Given the description of an element on the screen output the (x, y) to click on. 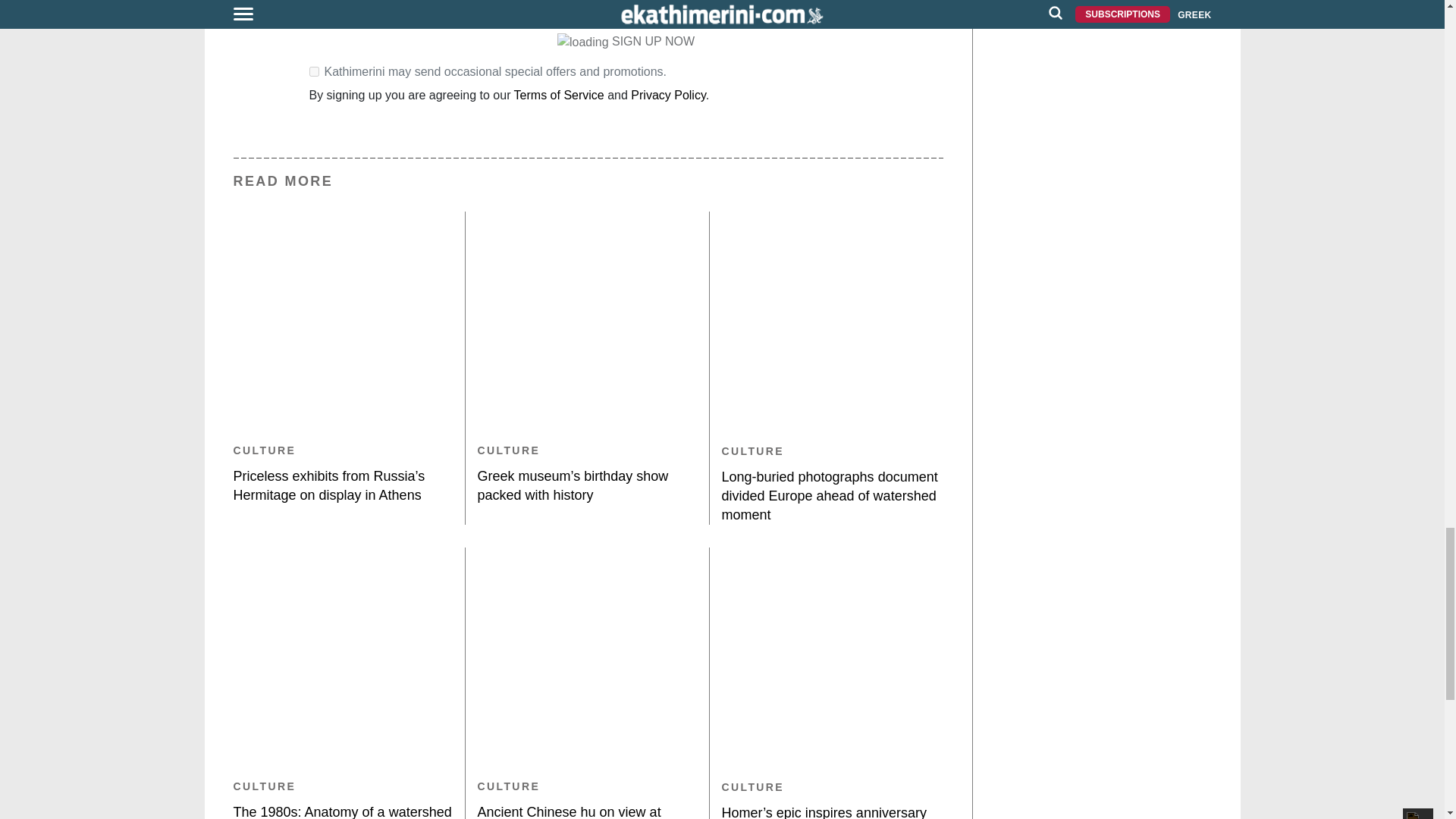
on (313, 71)
